Given the description of an element on the screen output the (x, y) to click on. 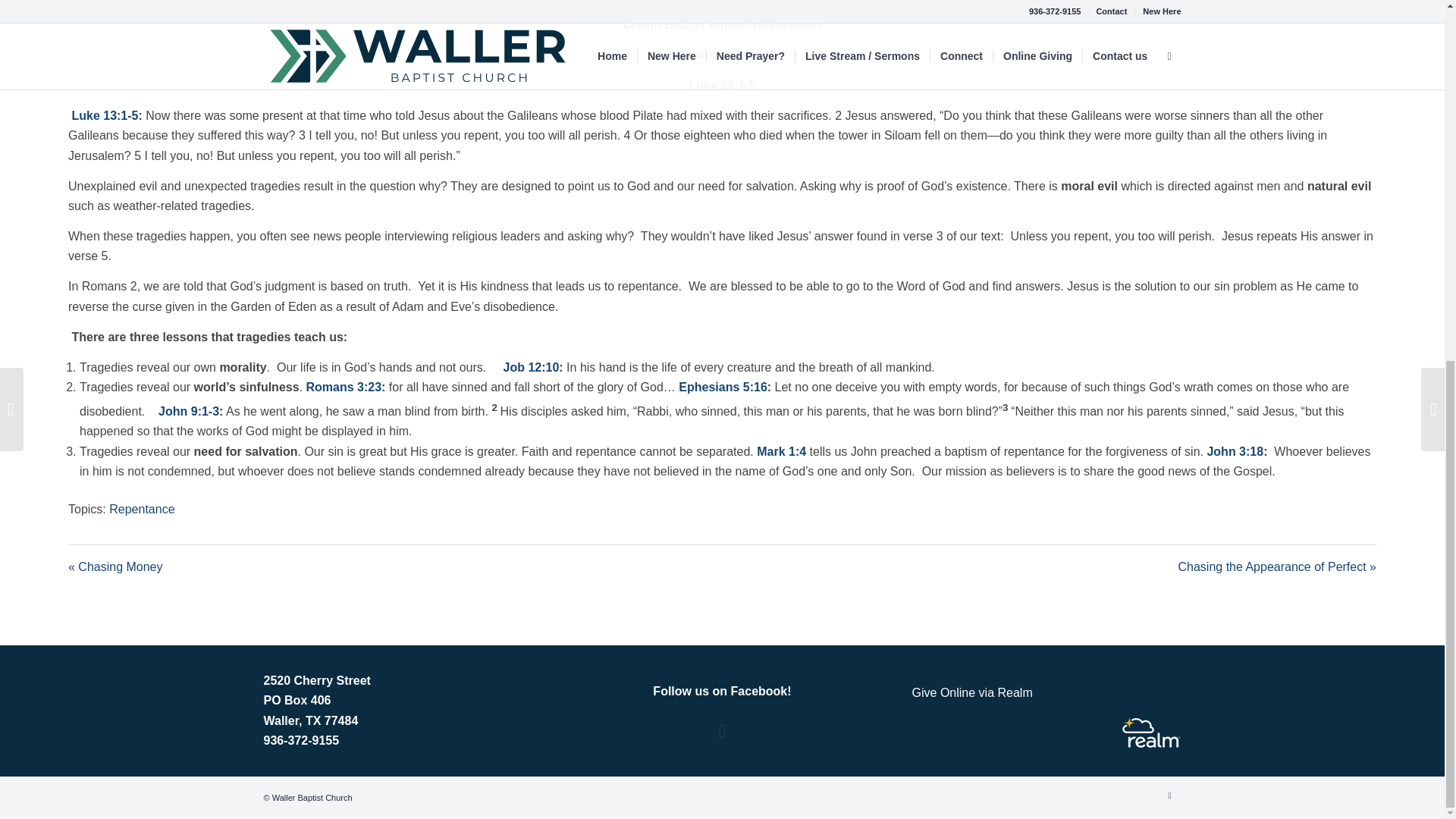
Luke 13:1-5 (721, 84)
Facebook (1169, 794)
Job 12:10 (531, 367)
Luke 13:1-5 (104, 115)
Realm Logo (1150, 732)
